Given the description of an element on the screen output the (x, y) to click on. 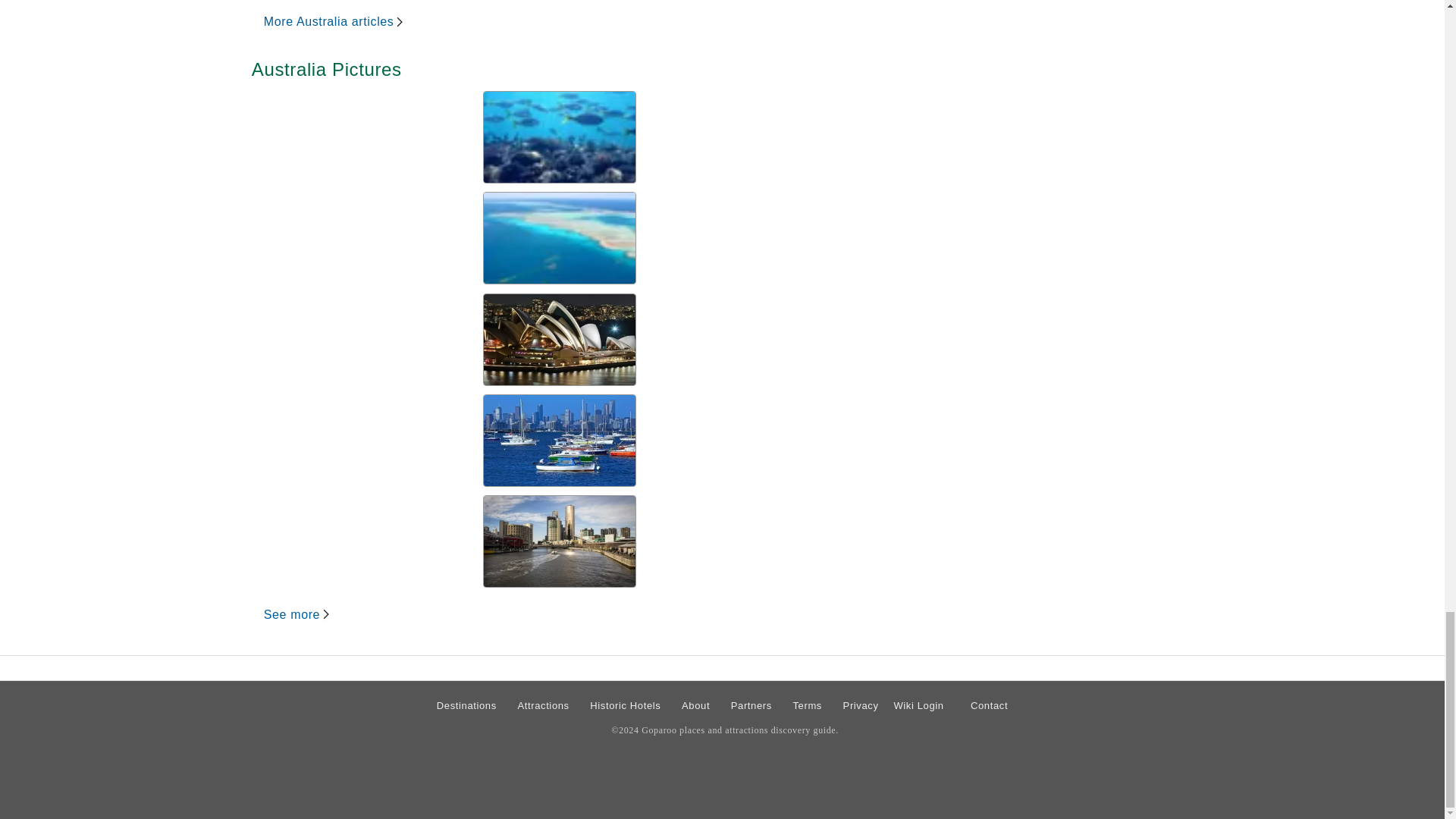
The Great Barrier Reef - Aerial View (559, 237)
Melbourne Southbank Sea View (559, 439)
The Great Barrier Reef - Underwater (559, 136)
More Australia articles (334, 21)
Melbourne Wharf (559, 541)
Sydney Opera House (559, 339)
